Given the description of an element on the screen output the (x, y) to click on. 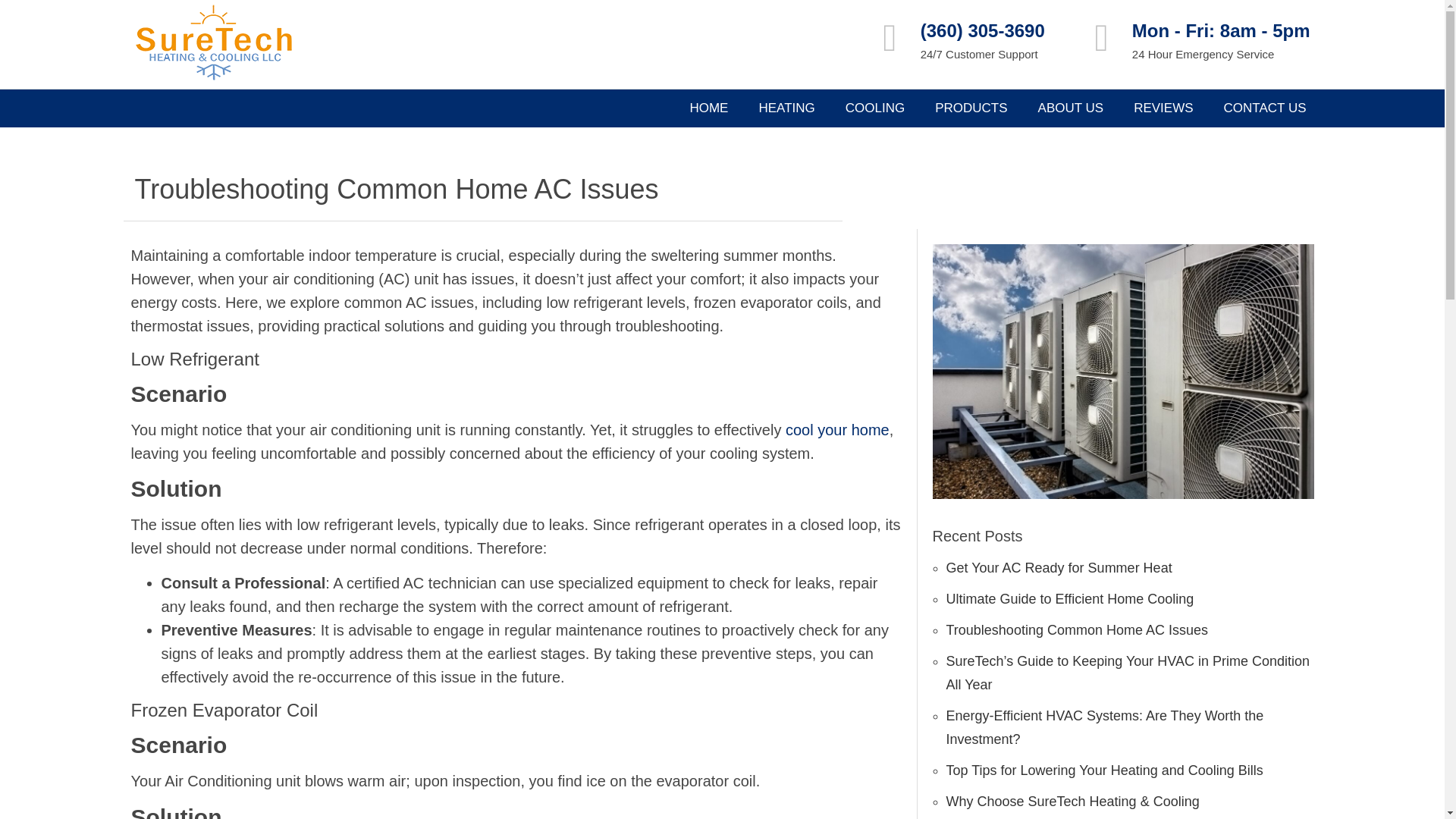
PRODUCTS (971, 108)
ABOUT US (1071, 108)
CONTACT US (1265, 108)
REVIEWS (1163, 108)
HOME (708, 108)
HEATING (785, 108)
COOLING (874, 108)
